Given the description of an element on the screen output the (x, y) to click on. 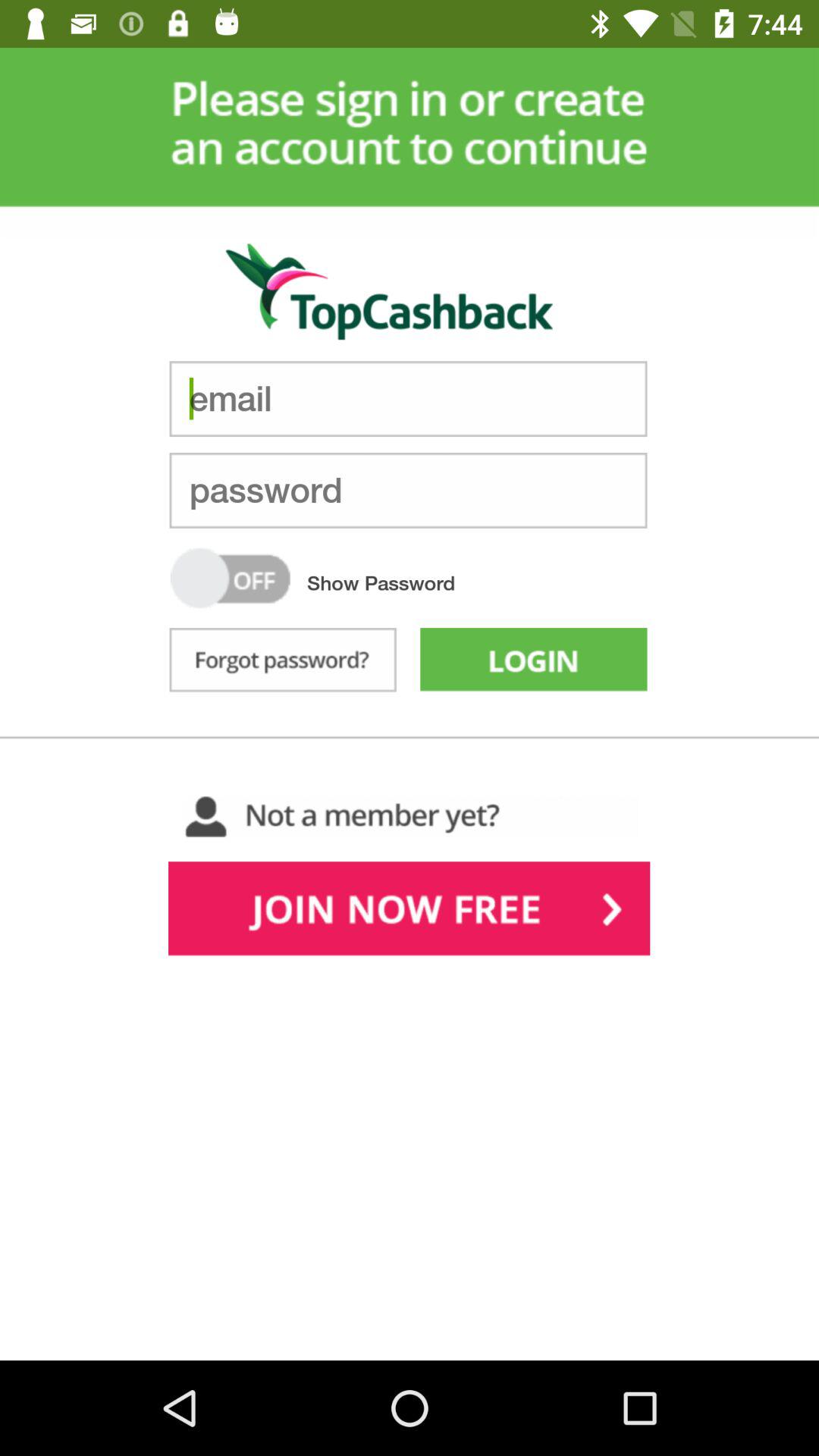
switchoff option (230, 577)
